Given the description of an element on the screen output the (x, y) to click on. 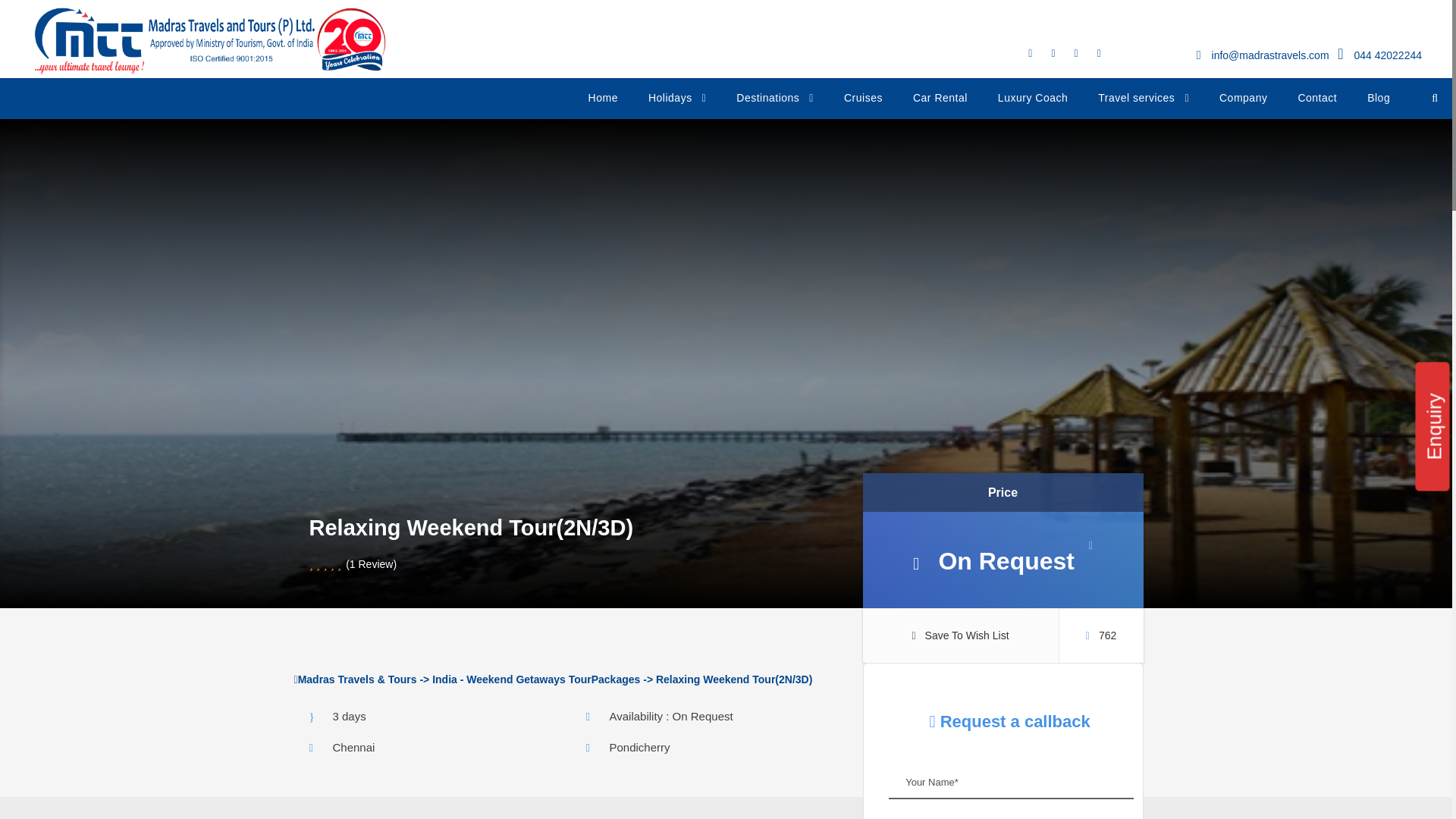
Home (1054, 679)
Home (602, 103)
Home (1054, 616)
Holidays (676, 103)
044 42022244 (1388, 55)
Home (209, 40)
Destinations (774, 103)
